Given the description of an element on the screen output the (x, y) to click on. 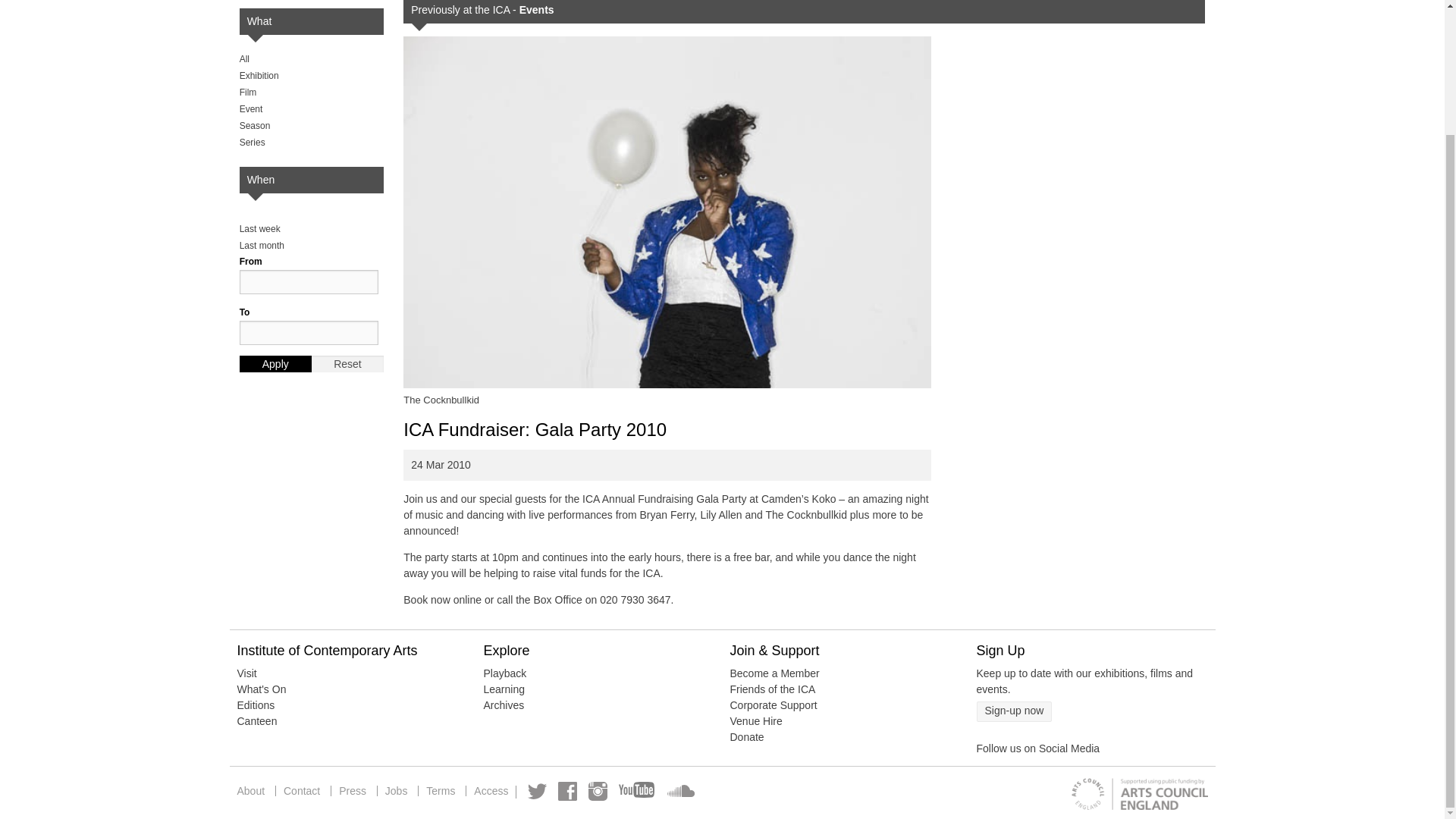
Venue Hire (755, 720)
Last week (260, 228)
Corporate Support (772, 705)
Contact (301, 790)
Film (248, 91)
Terms (441, 790)
Last month (261, 245)
Series (252, 142)
Reset (347, 363)
Friends of the ICA (772, 689)
Exhibition (259, 75)
Apply (275, 363)
Jobs (395, 790)
About (253, 790)
